Given the description of an element on the screen output the (x, y) to click on. 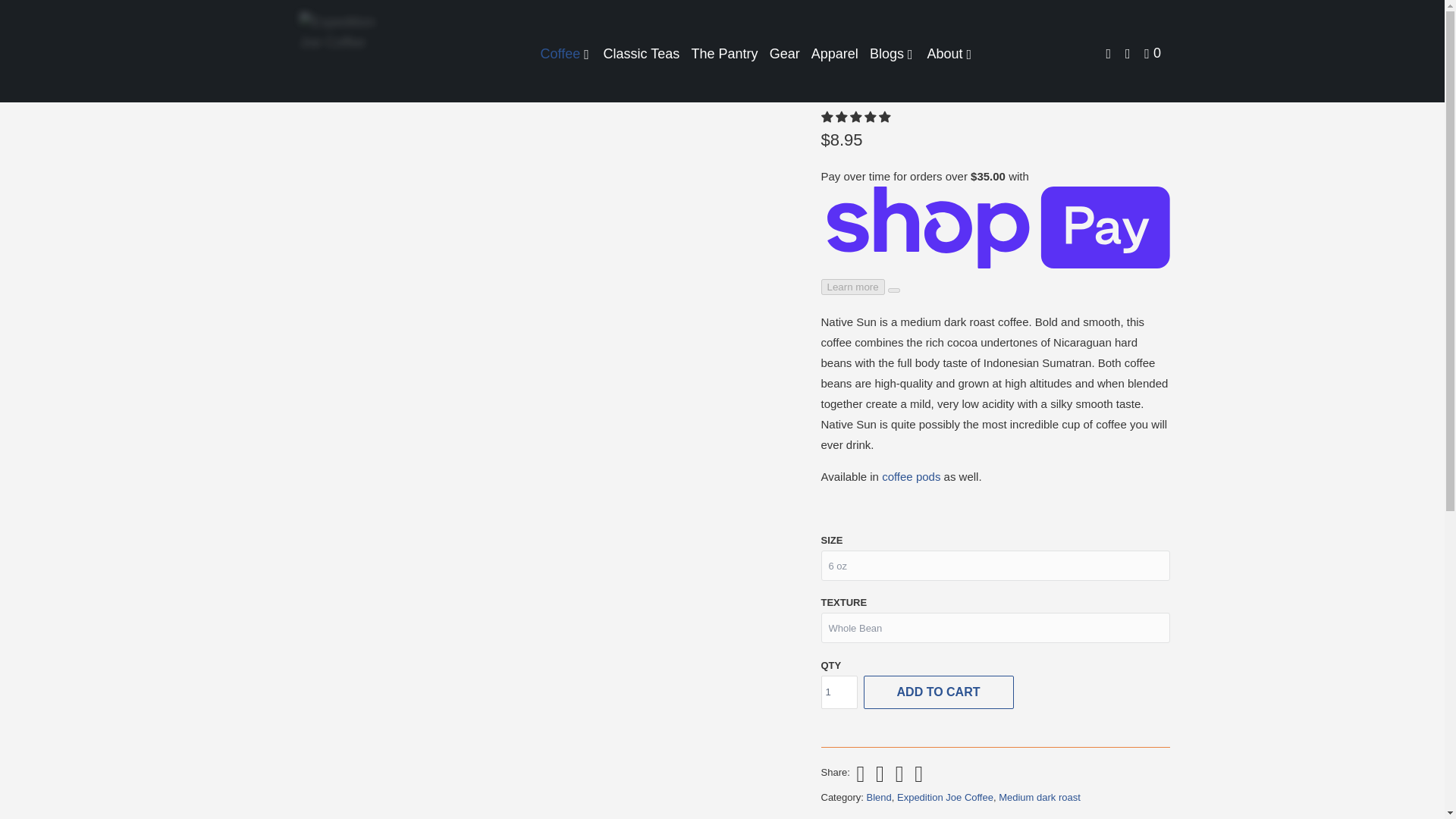
1 (839, 692)
Products tagged Blend (878, 797)
Products tagged Expedition Joe Coffee (944, 797)
Products tagged Medium dark roast (1039, 797)
Coffee (565, 53)
Classic Teas (640, 53)
Expedition Joe Coffee (342, 51)
Expedition Joe Coffee custom coffee pods (911, 476)
